Given the description of an element on the screen output the (x, y) to click on. 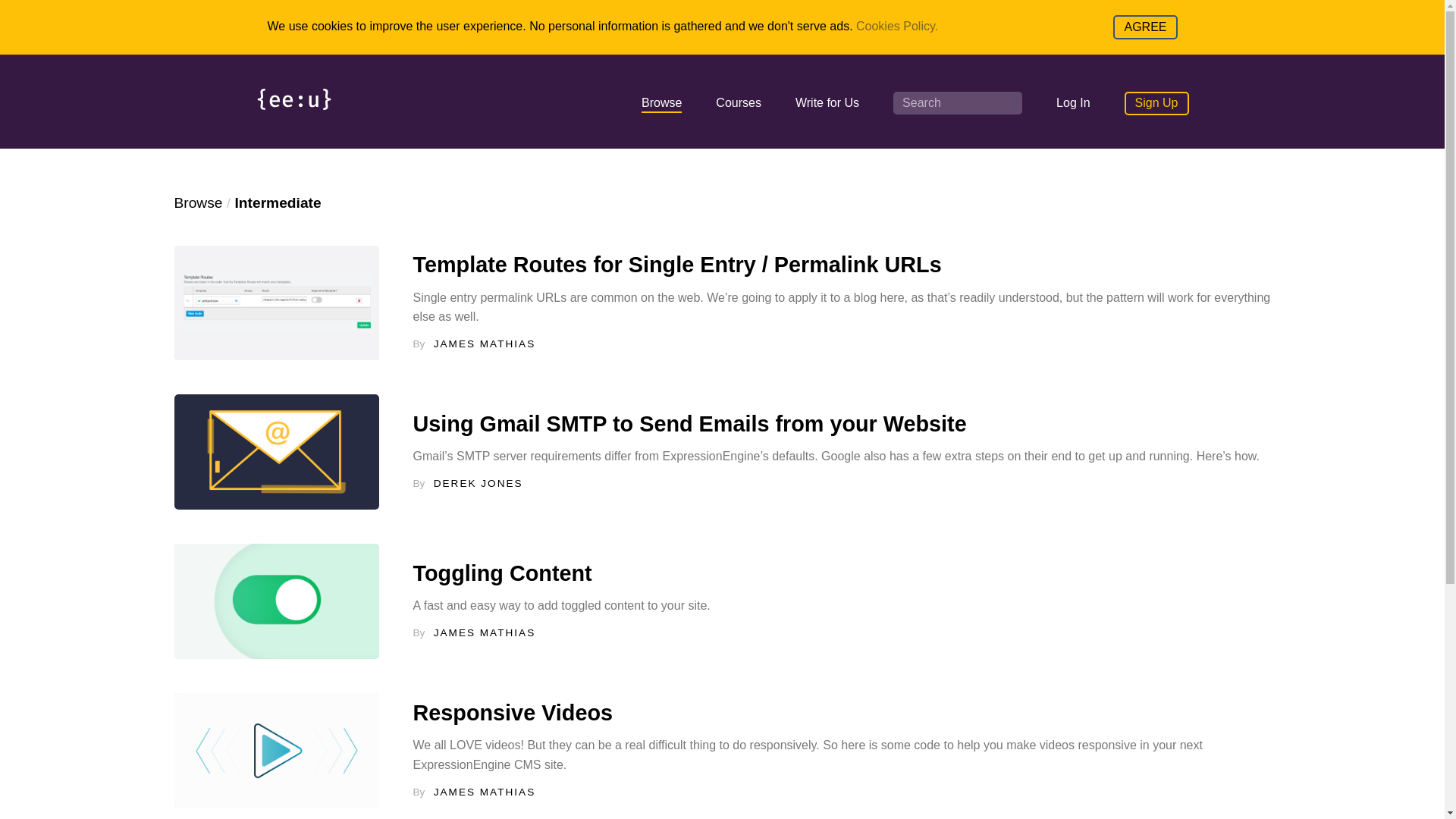
Write for Us (826, 102)
Courses (738, 102)
Log In (1073, 102)
Sign Up (1156, 103)
AGREE (1144, 27)
Browse (661, 104)
Cookies Policy. (896, 25)
